Given the description of an element on the screen output the (x, y) to click on. 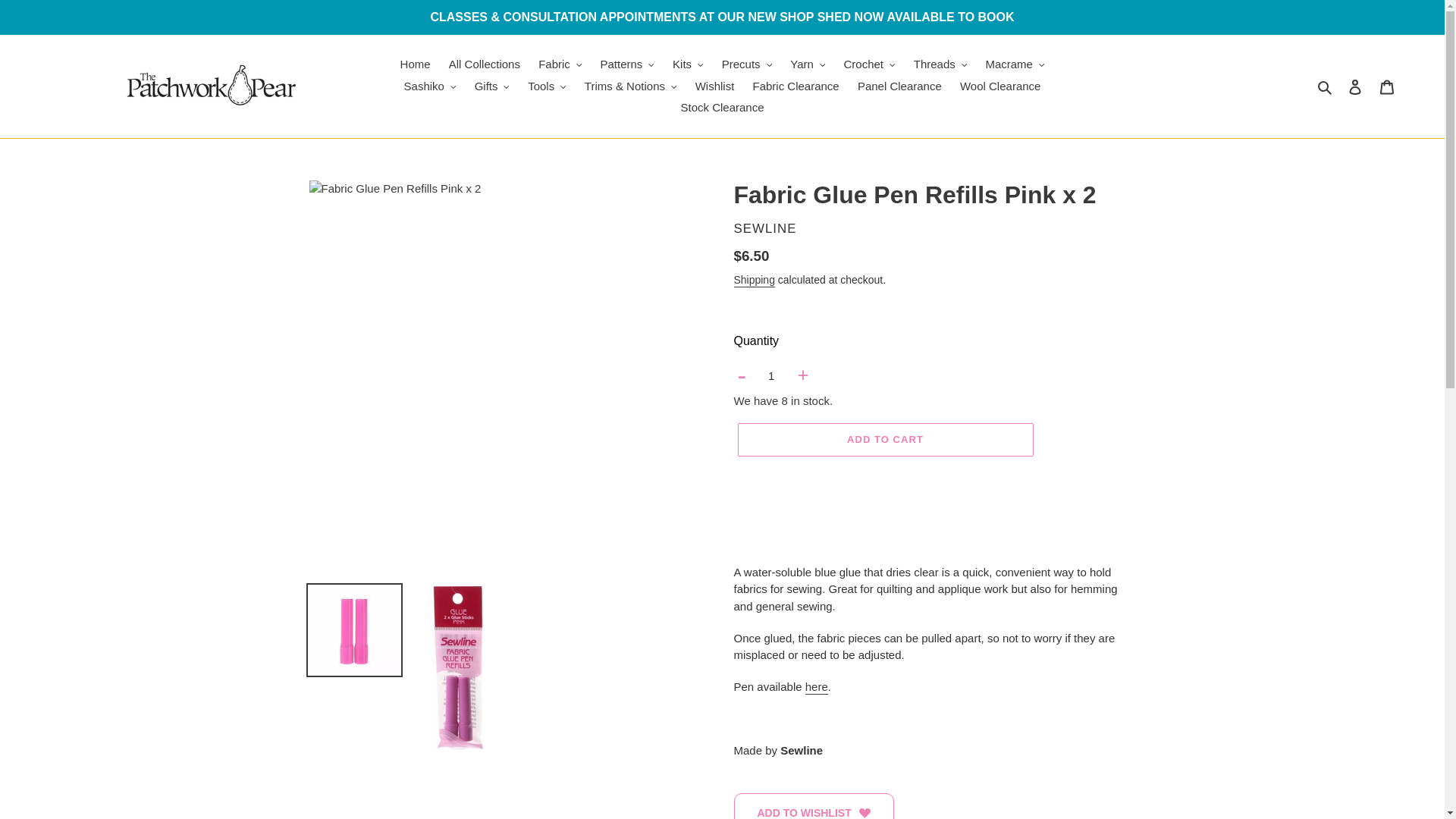
Home (415, 65)
1 (771, 376)
Patterns (627, 65)
All Collections (484, 65)
Fabric (560, 65)
